Given the description of an element on the screen output the (x, y) to click on. 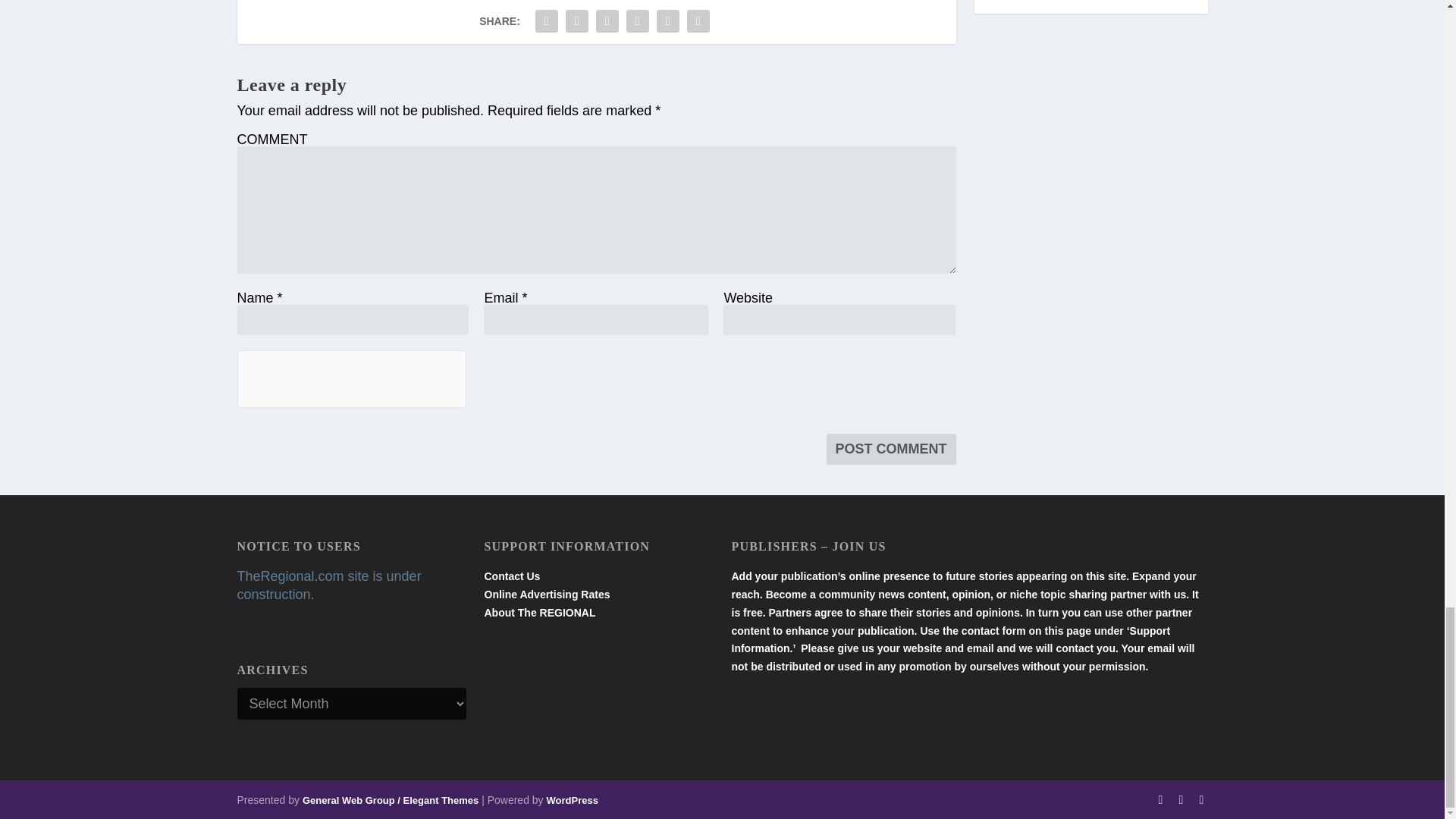
Post Comment (891, 449)
Premium WordPress Themes (390, 799)
